Given the description of an element on the screen output the (x, y) to click on. 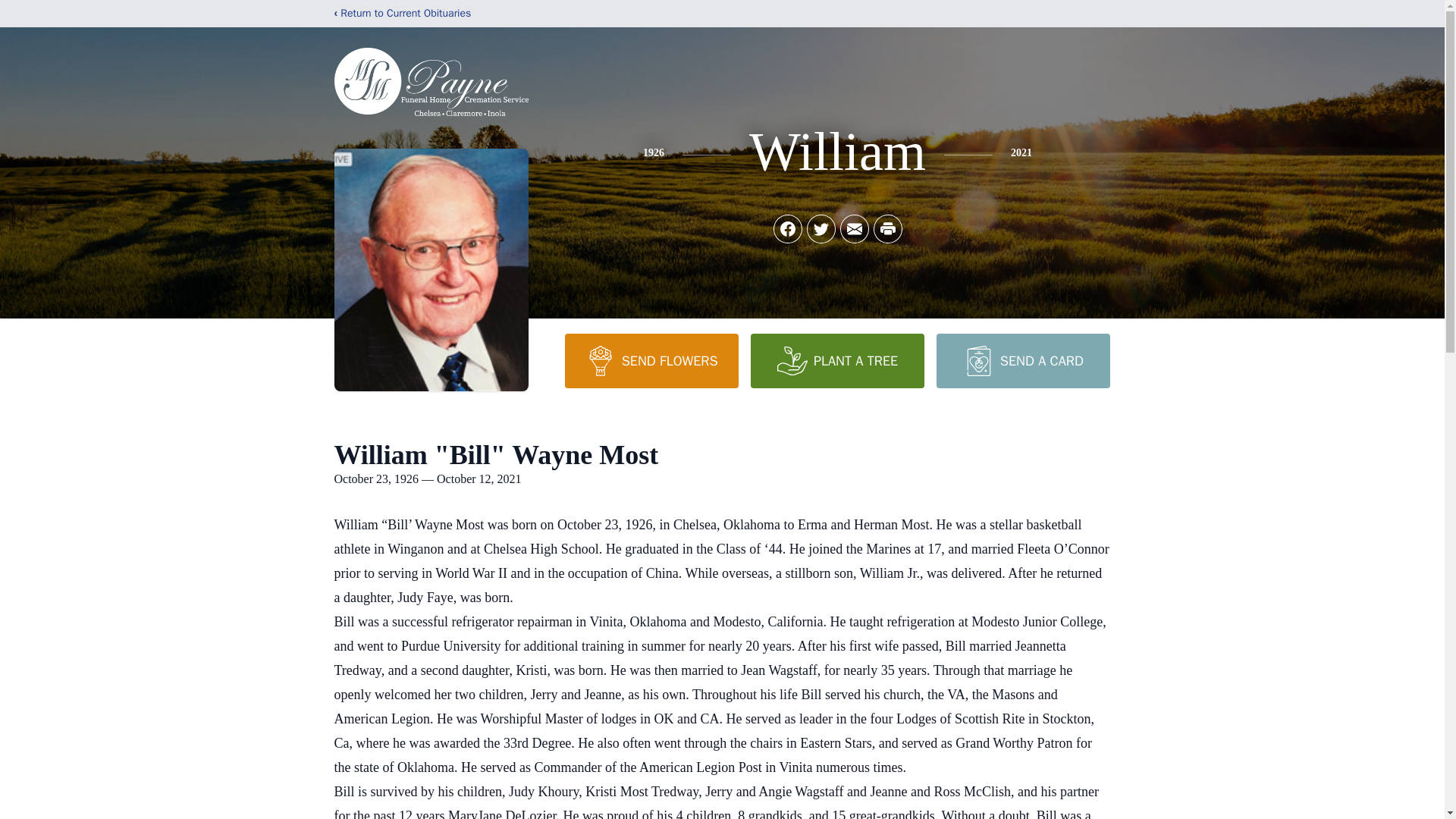
SEND A CARD (1022, 360)
SEND FLOWERS (651, 360)
PLANT A TREE (837, 360)
